Given the description of an element on the screen output the (x, y) to click on. 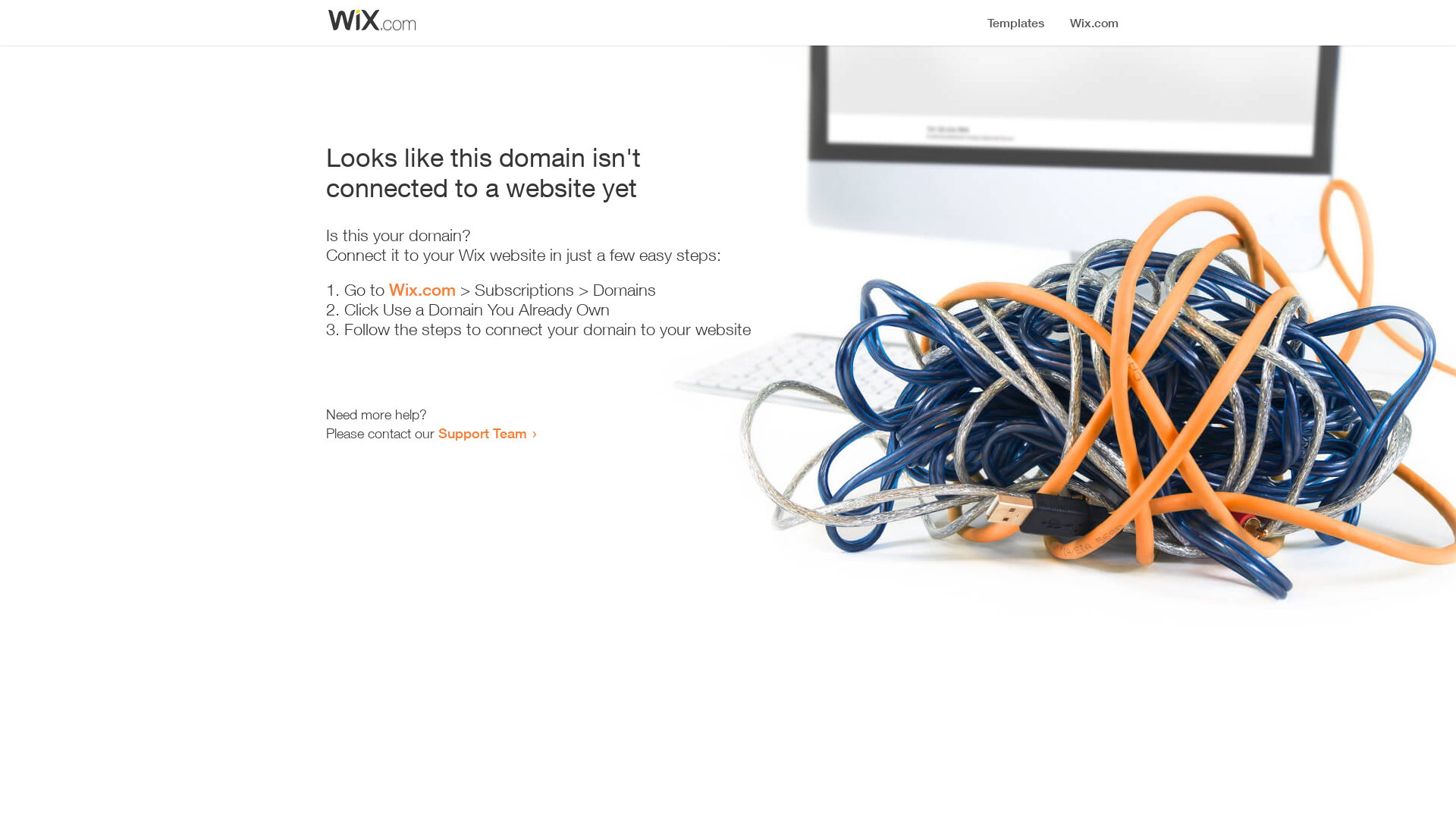
Support Team Element type: text (482, 432)
Wix.com Element type: text (422, 289)
